Given the description of an element on the screen output the (x, y) to click on. 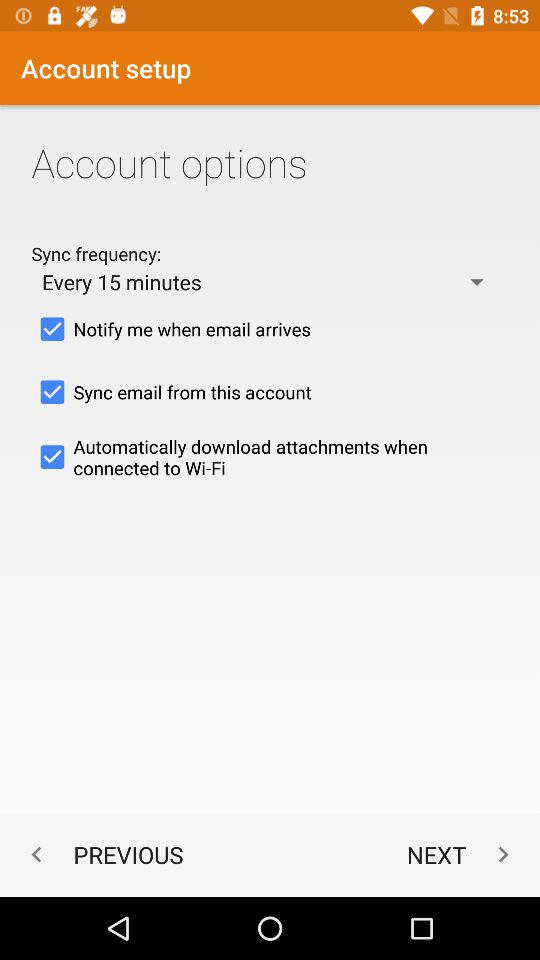
flip to notify me when (269, 329)
